Given the description of an element on the screen output the (x, y) to click on. 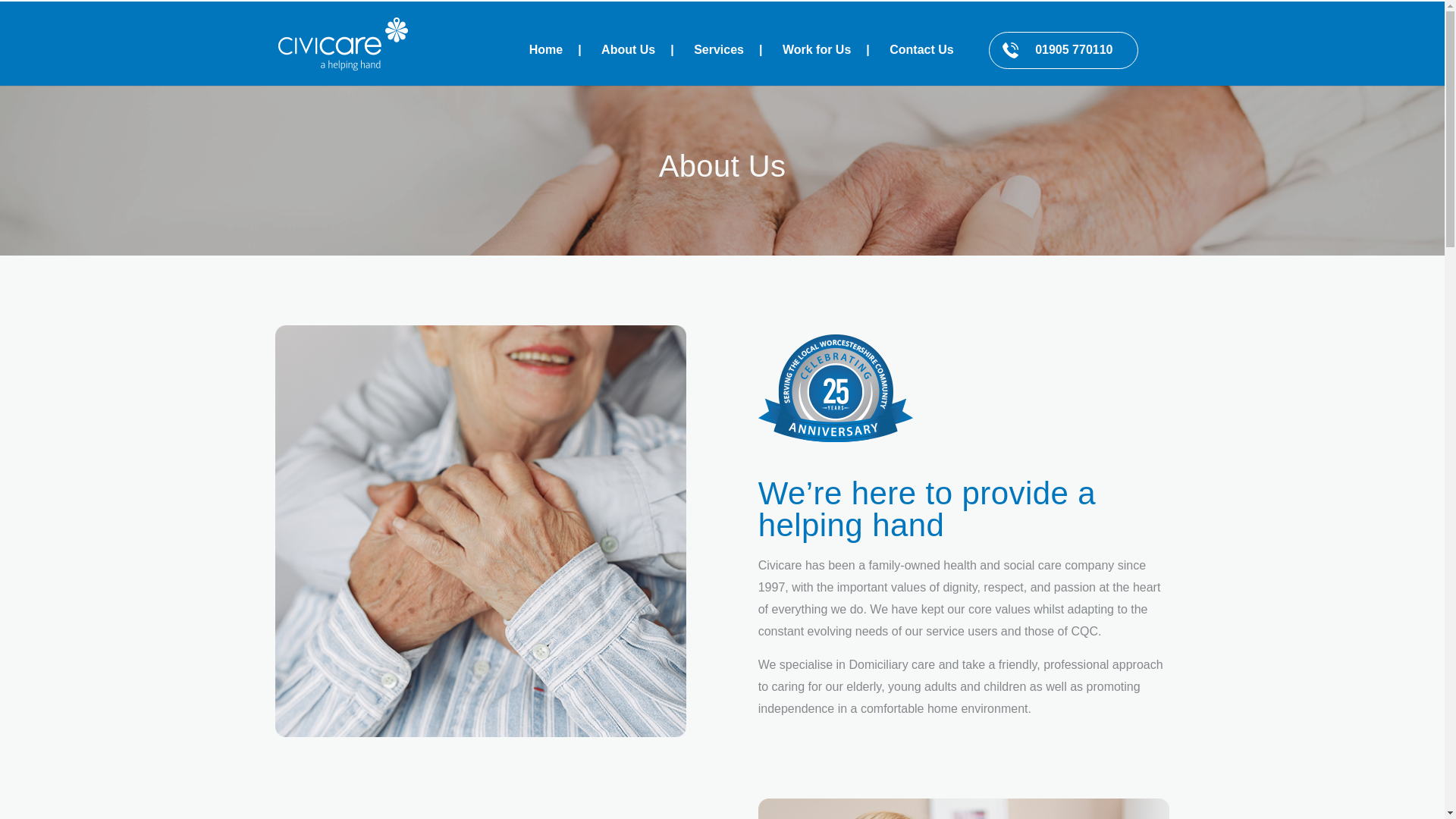
about2png (964, 808)
Work for Us (818, 65)
Services (720, 65)
Home (547, 65)
About Us (630, 65)
01905 770110 (1062, 49)
Contact Us (921, 65)
25 (835, 388)
